Given the description of an element on the screen output the (x, y) to click on. 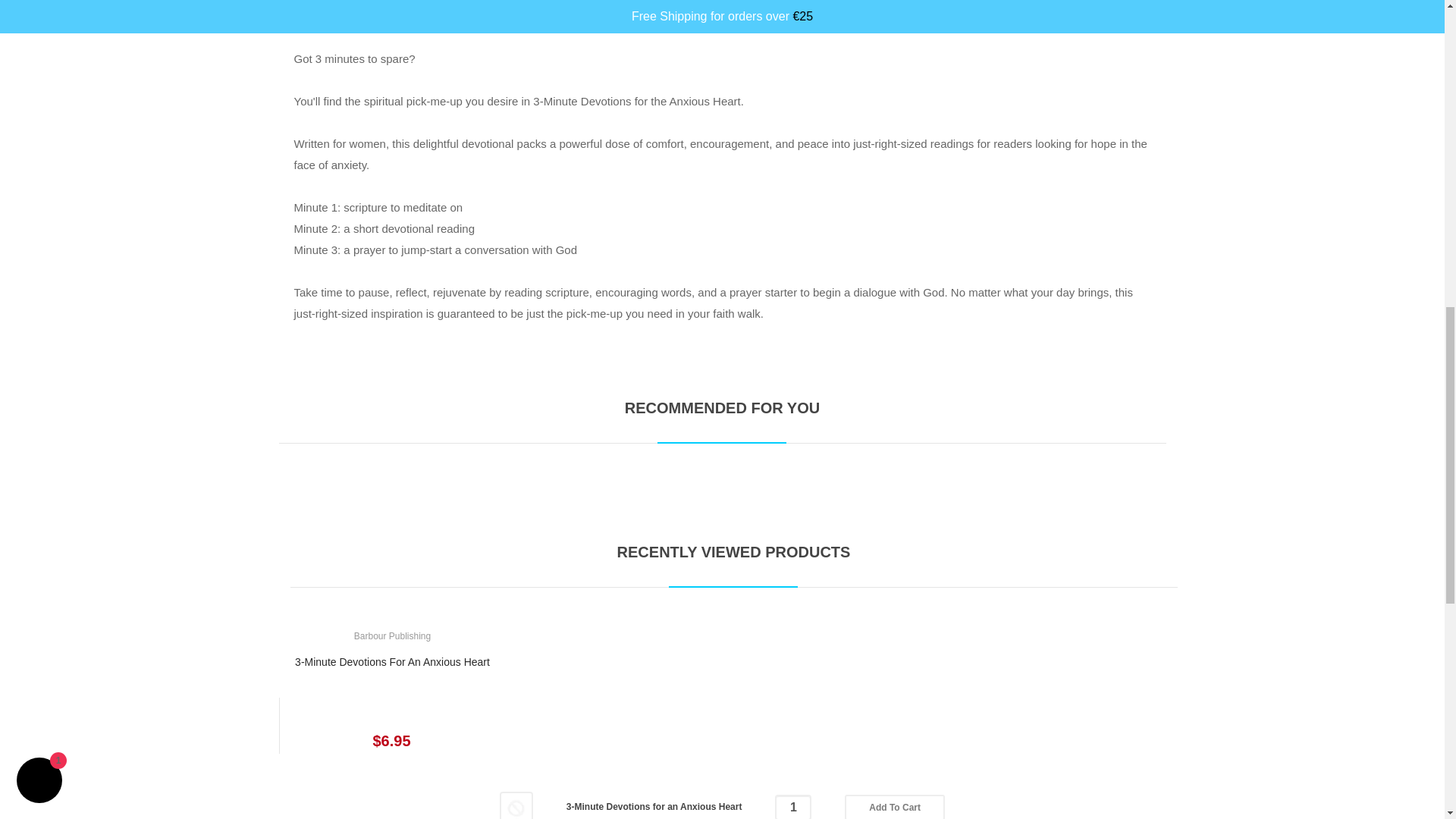
1 (792, 806)
